Given the description of an element on the screen output the (x, y) to click on. 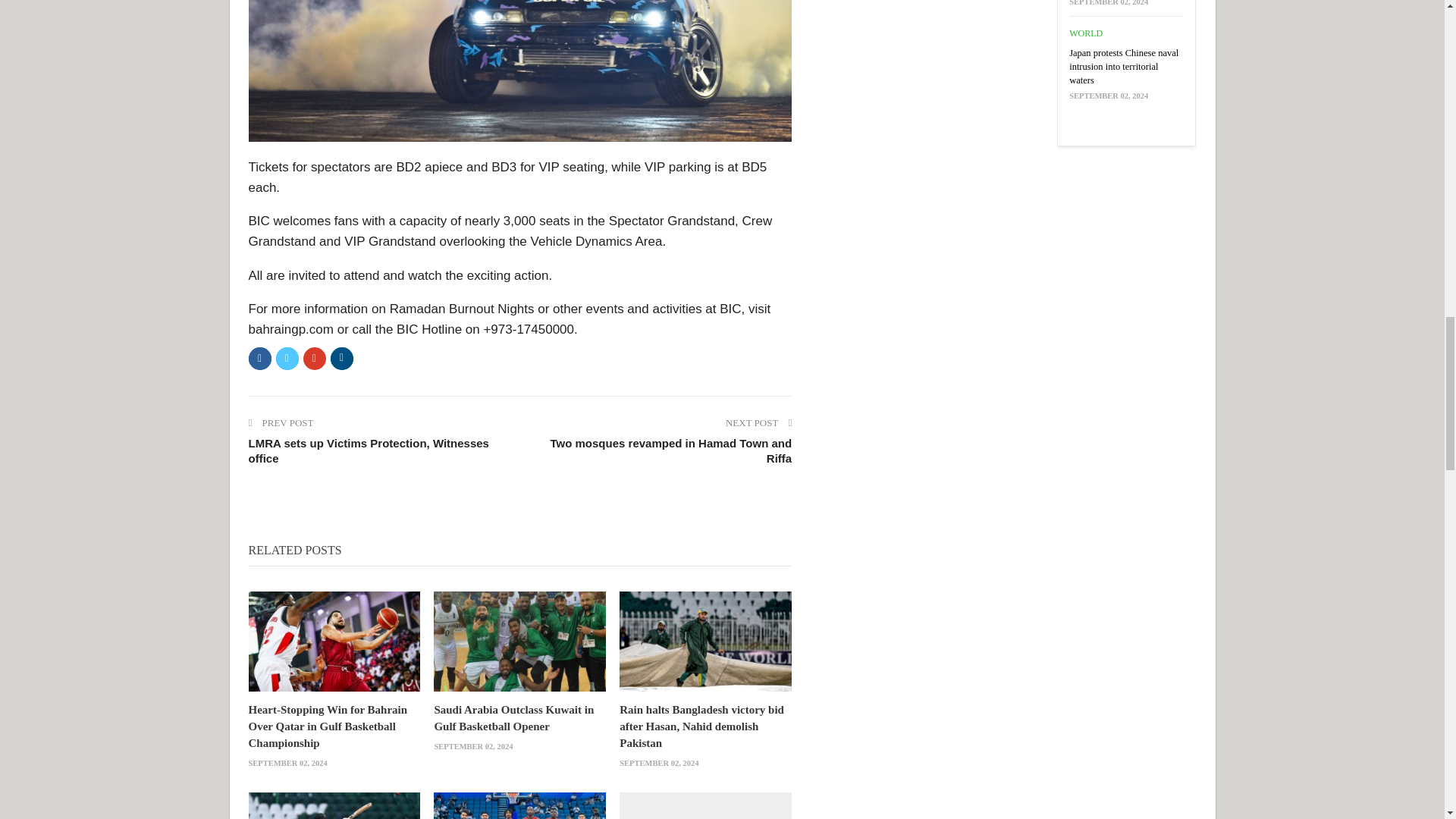
LMRA sets up Victims Protection, Witnesses office (378, 450)
Ton-up Das helps Bangladesh thwart Pakistan in second Test (334, 805)
Saudi Arabia Outclass Kuwait in Gulf Basketball Opener (513, 717)
Leclerc triumphs at Italian GP (706, 805)
Saudi Arabia Outclass Kuwait in Gulf Basketball Opener (519, 641)
Two mosques revamped in Hamad Town and Riffa (661, 450)
